Given the description of an element on the screen output the (x, y) to click on. 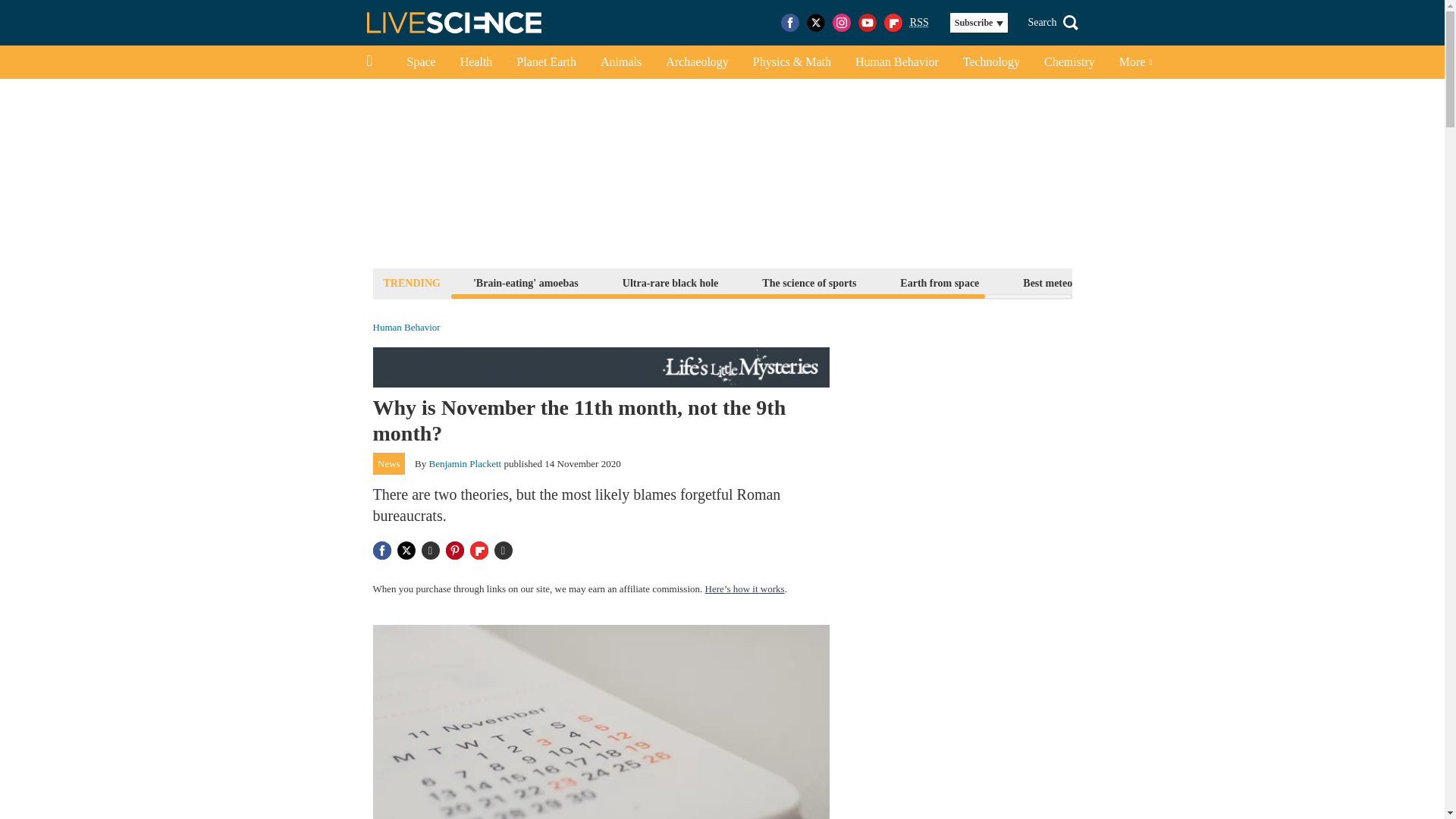
Ultra-rare black hole (670, 282)
Earth from space (939, 282)
Space (420, 61)
Human Behavior (406, 327)
Really Simple Syndication (919, 21)
Planet Earth (545, 61)
Technology (991, 61)
Chemistry (1069, 61)
Archaeology (697, 61)
Health (476, 61)
